Given the description of an element on the screen output the (x, y) to click on. 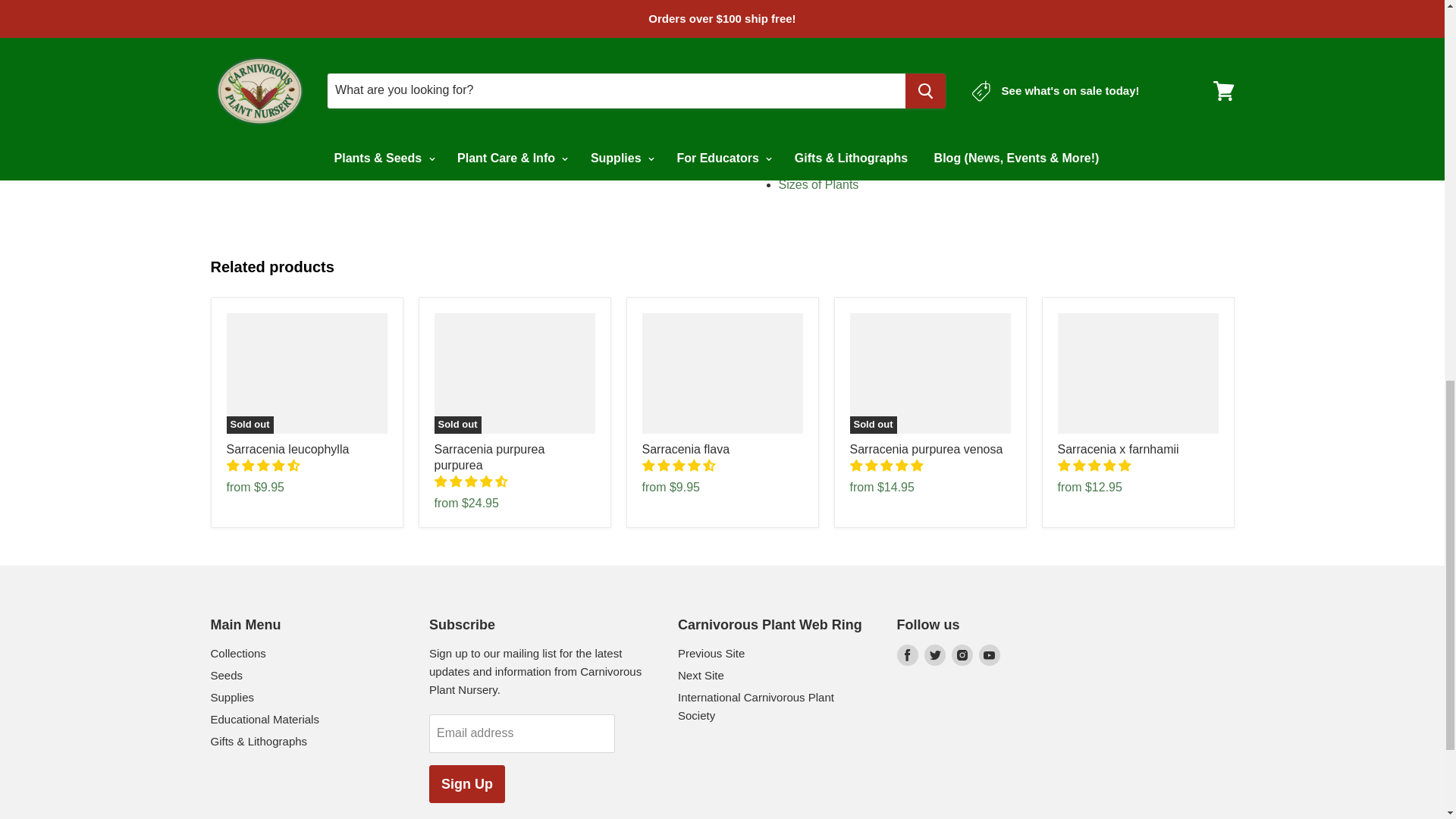
Twitter (933, 655)
Youtube (989, 655)
Facebook (906, 655)
Instagram (961, 655)
lower bog carnivorous plant soil mix (833, 53)
All purpose carnivorous plant soil mix (932, 53)
